Given the description of an element on the screen output the (x, y) to click on. 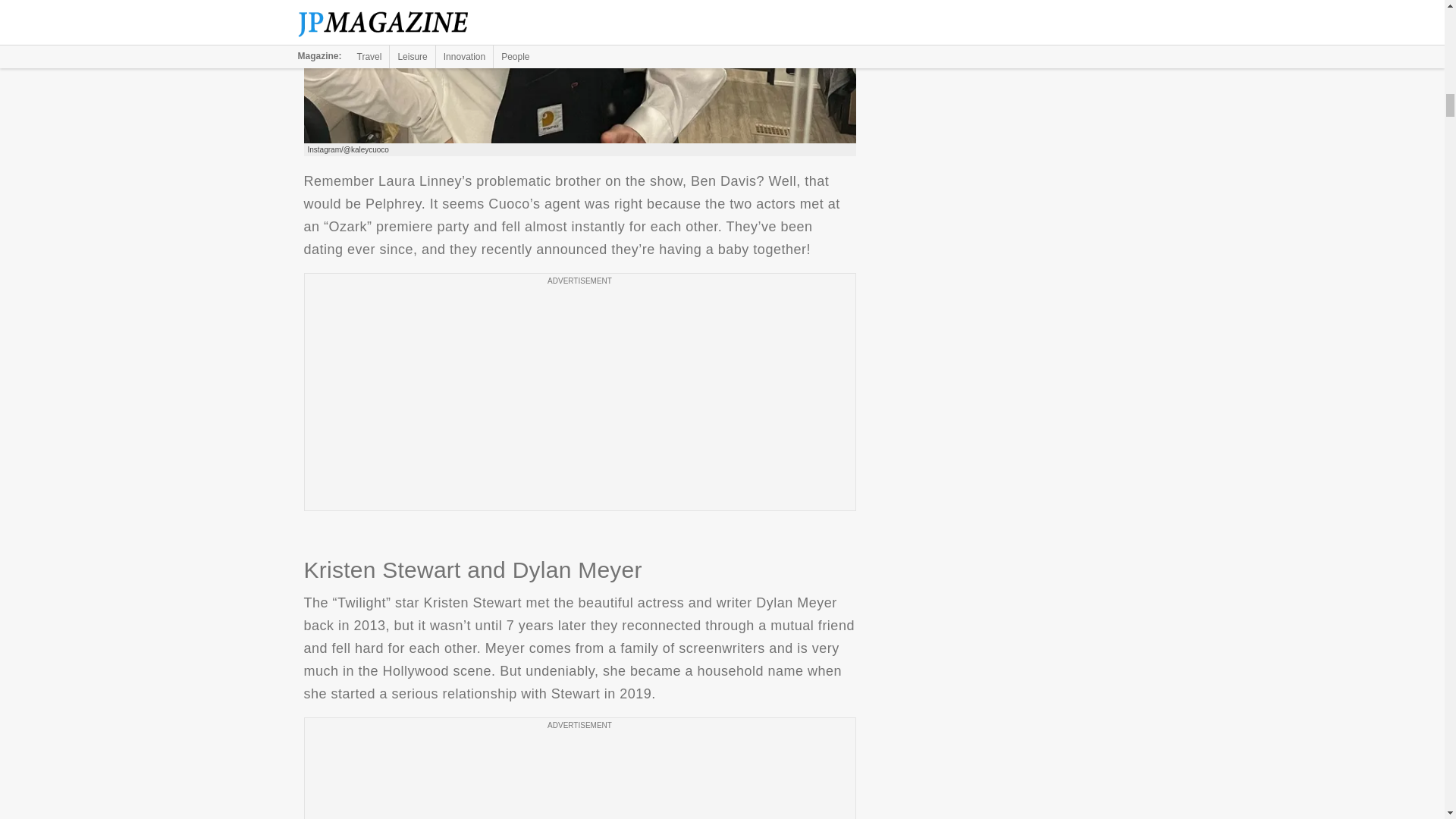
Kaley Cuoco and Tom Pelphrey (579, 71)
